Given the description of an element on the screen output the (x, y) to click on. 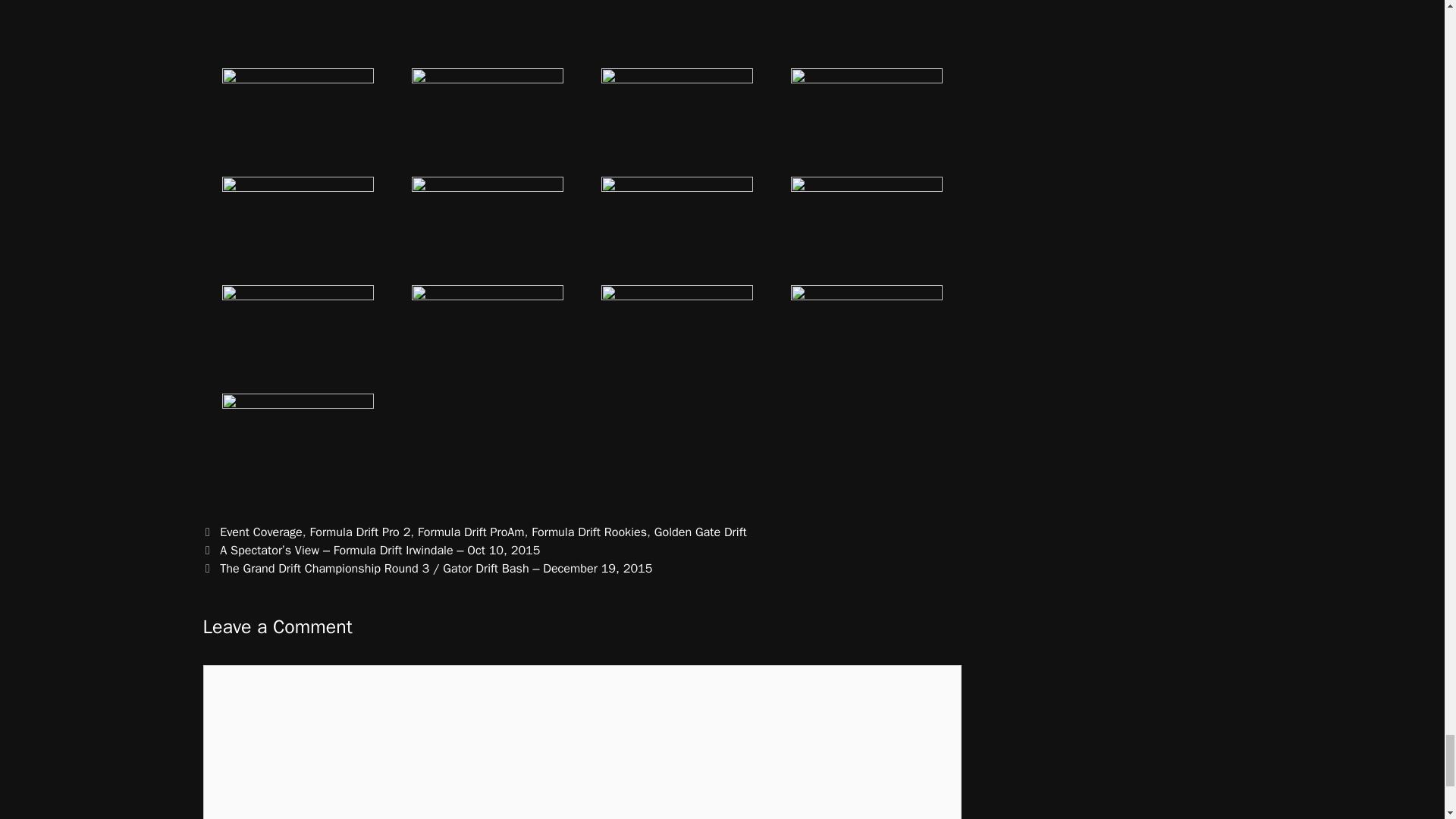
Next (427, 568)
Previous (371, 549)
